Given the description of an element on the screen output the (x, y) to click on. 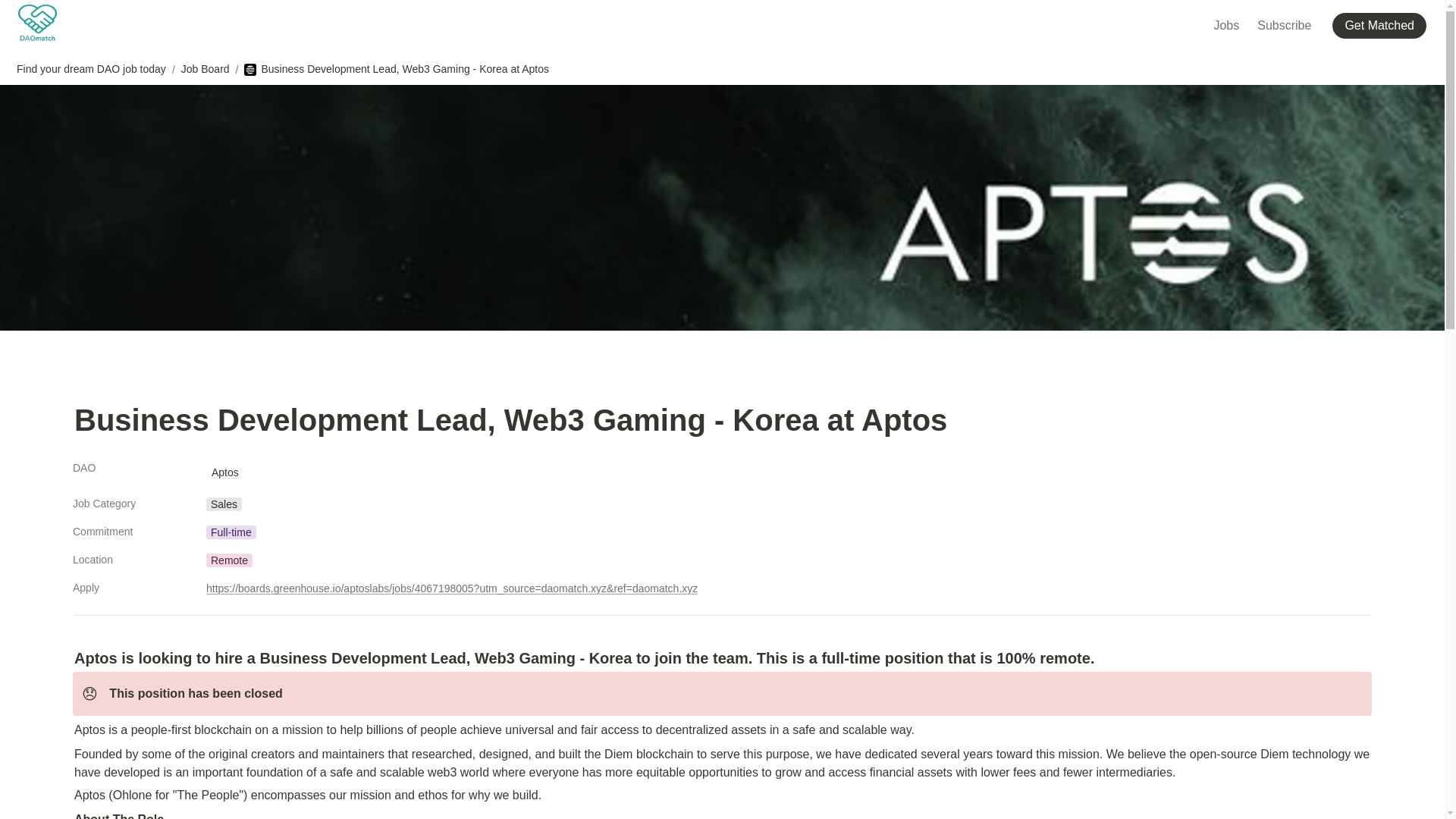
Subscribe (1283, 24)
Get Matched (1382, 24)
Jobs (1225, 24)
Business Development Lead, Web3 Gaming - Korea at Aptos (396, 69)
Find your dream DAO job today (90, 69)
Aptos (224, 472)
Job Board (205, 69)
